Given the description of an element on the screen output the (x, y) to click on. 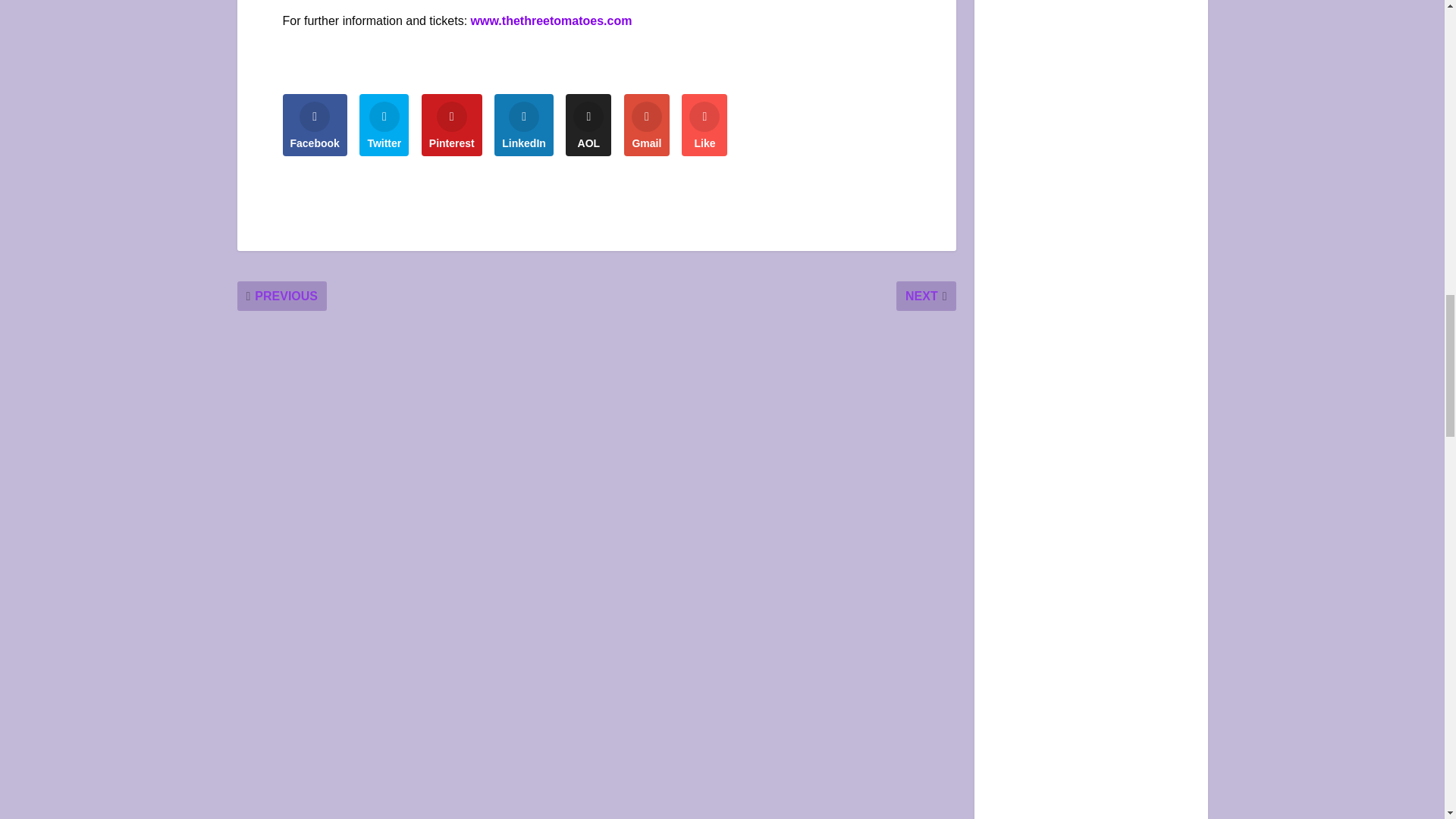
www.thethreetomatoes.com (550, 20)
Facebook (314, 125)
Pinterest (451, 125)
LinkedIn (524, 125)
